Given the description of an element on the screen output the (x, y) to click on. 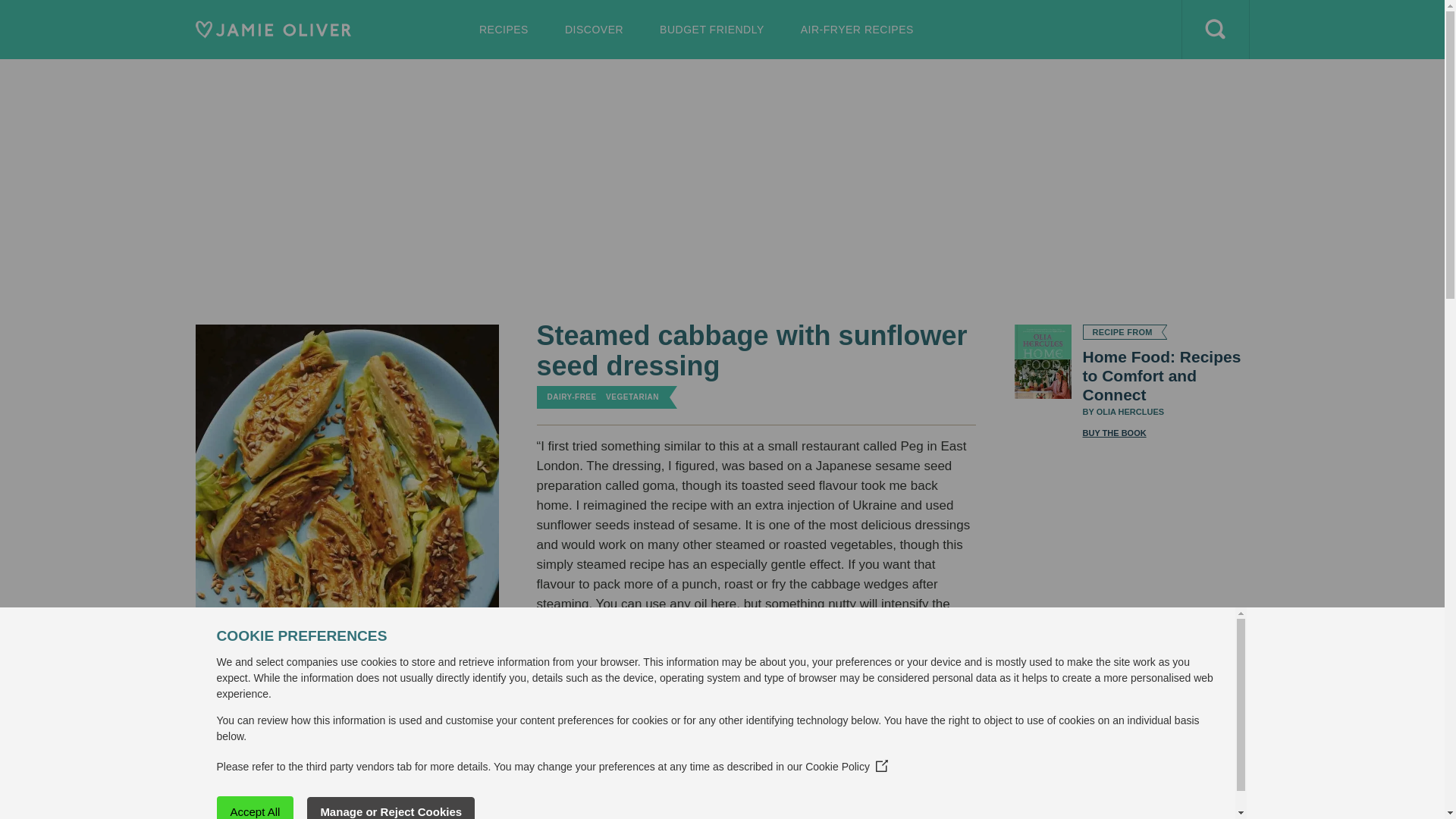
Jamie Oliver (272, 29)
Budget-friendly (533, 87)
Air-Fryer Recipes (711, 29)
DISCOVER (711, 29)
Manage or Reject Cookies (857, 29)
Discover (593, 29)
Recipes (857, 29)
